Given the description of an element on the screen output the (x, y) to click on. 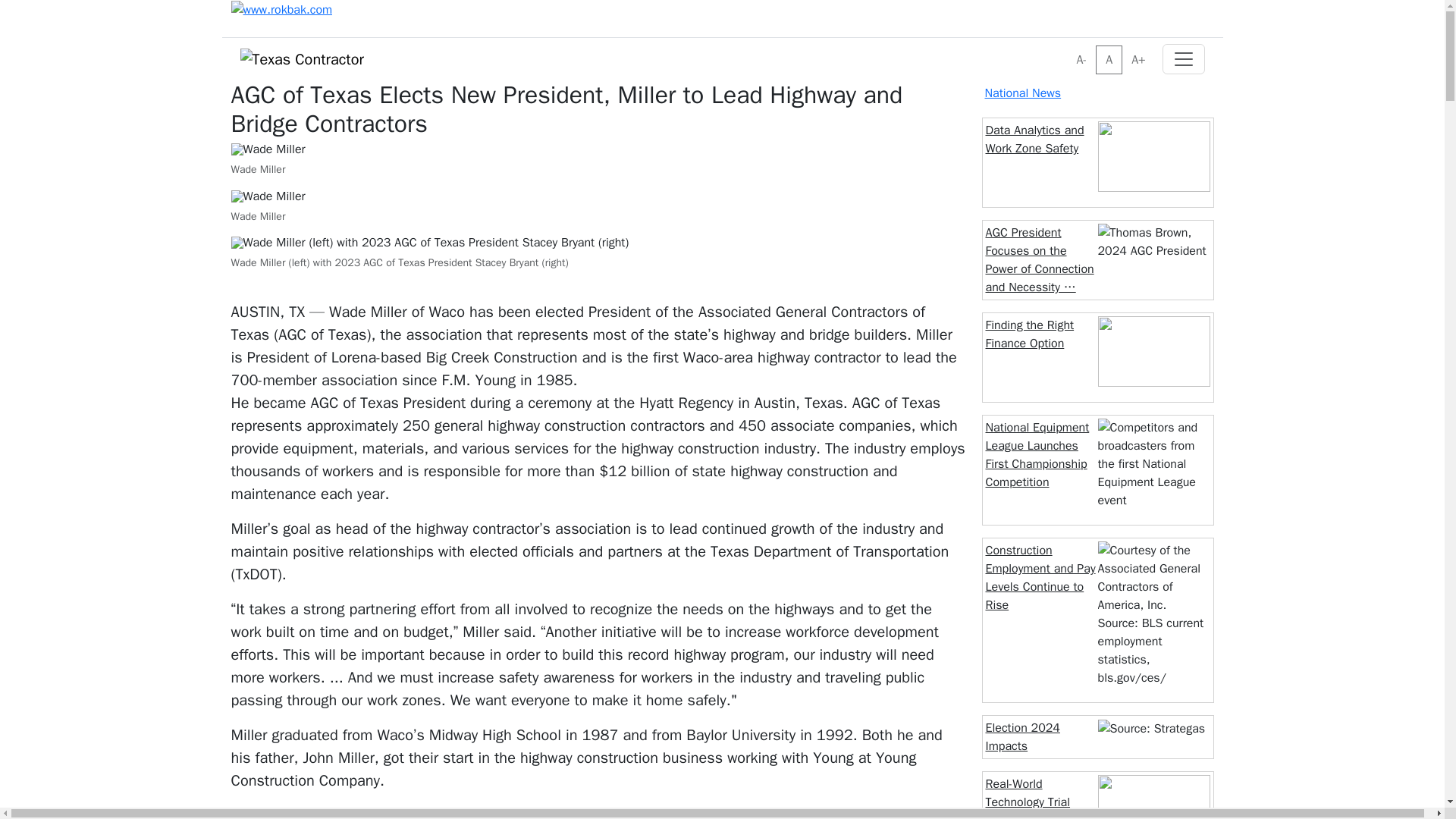
on (1070, 50)
Finding the Right Finance Option (1029, 334)
Real-World Technology Trial (1027, 792)
Data Analytics and Work Zone Safety (1034, 139)
on (1070, 50)
Construction Employment and Pay Levels Continue to Rise (1040, 577)
Election 2024 Impacts (1022, 736)
on (1070, 50)
National News (1022, 92)
